Given the description of an element on the screen output the (x, y) to click on. 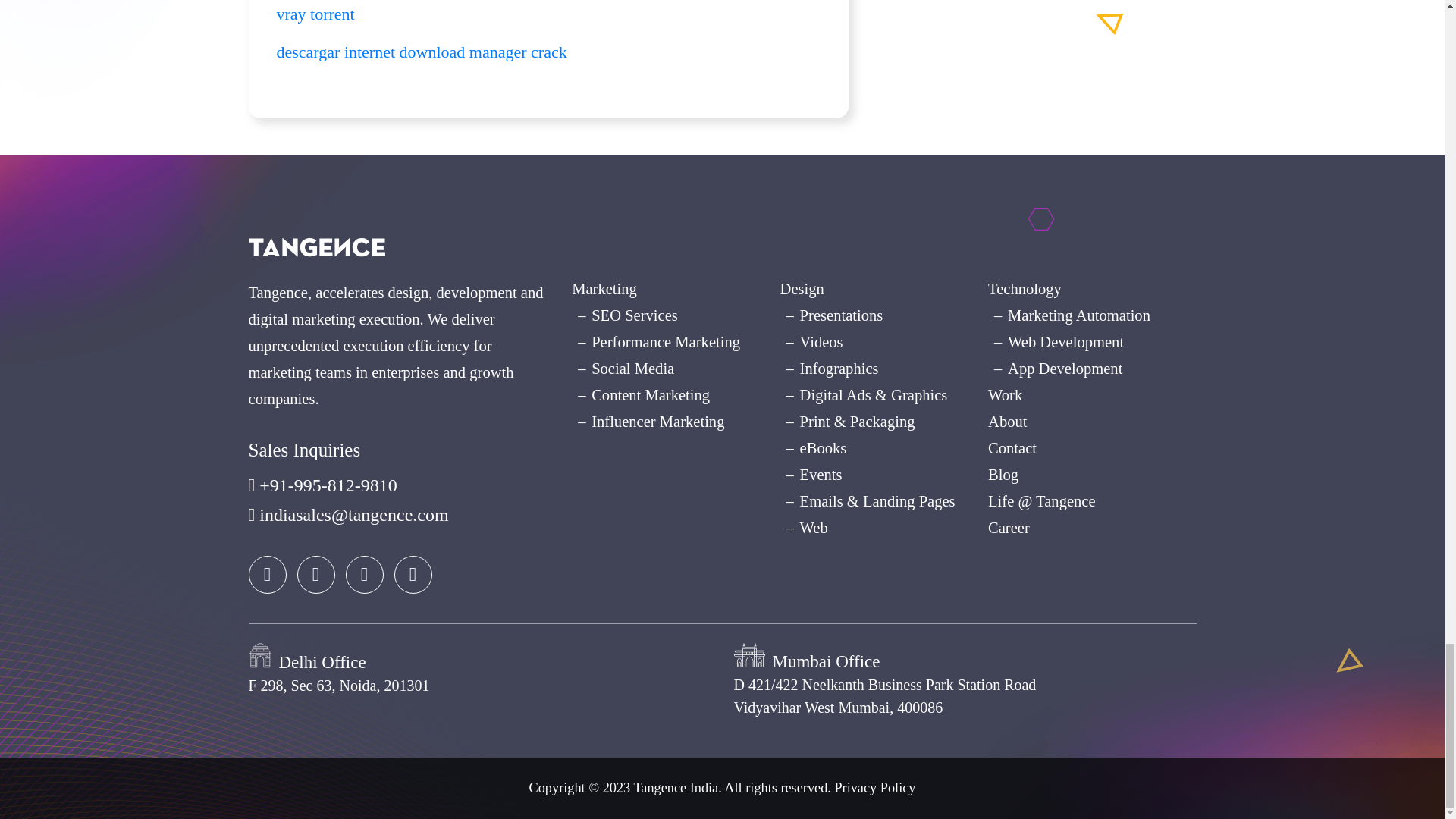
vray torrent (314, 13)
Content Marketing (650, 394)
eBooks (823, 447)
Presentations (841, 315)
About (1007, 421)
Videos (821, 341)
App Development (1064, 368)
Web Development (1065, 341)
SEO Services (634, 315)
Performance Marketing (665, 341)
Influencer Marketing (657, 421)
Work (1005, 394)
Web (813, 527)
Marketing Automation (1078, 315)
Events (821, 474)
